Given the description of an element on the screen output the (x, y) to click on. 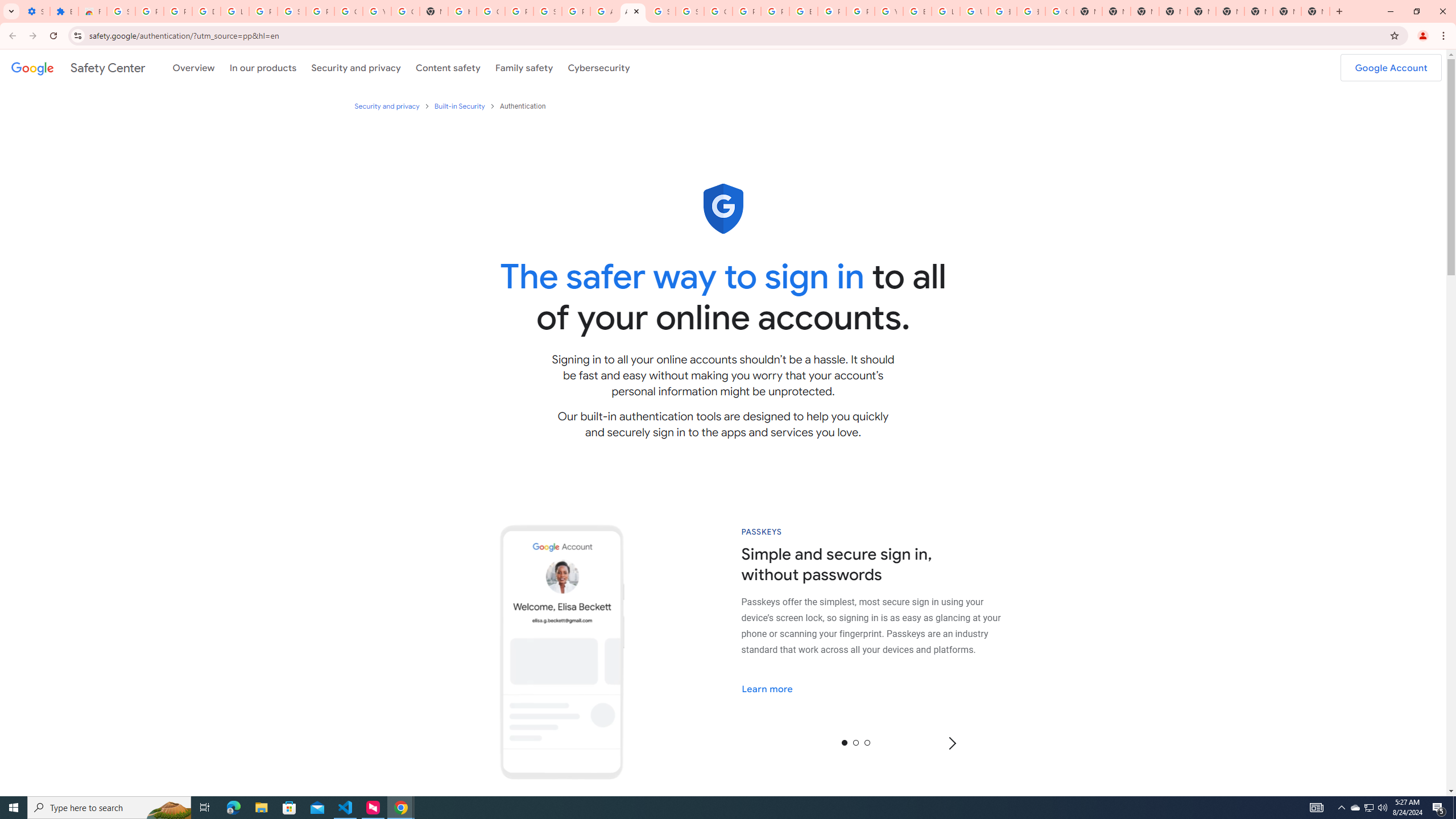
Learn more (774, 688)
Security and privacy  (386, 105)
Privacy Help Center - Policies Help (774, 11)
Sign in - Google Accounts (291, 11)
Safety Center (78, 67)
Sign in - Google Accounts (661, 11)
Content safety (447, 67)
Sign in - Google Accounts (547, 11)
